Given the description of an element on the screen output the (x, y) to click on. 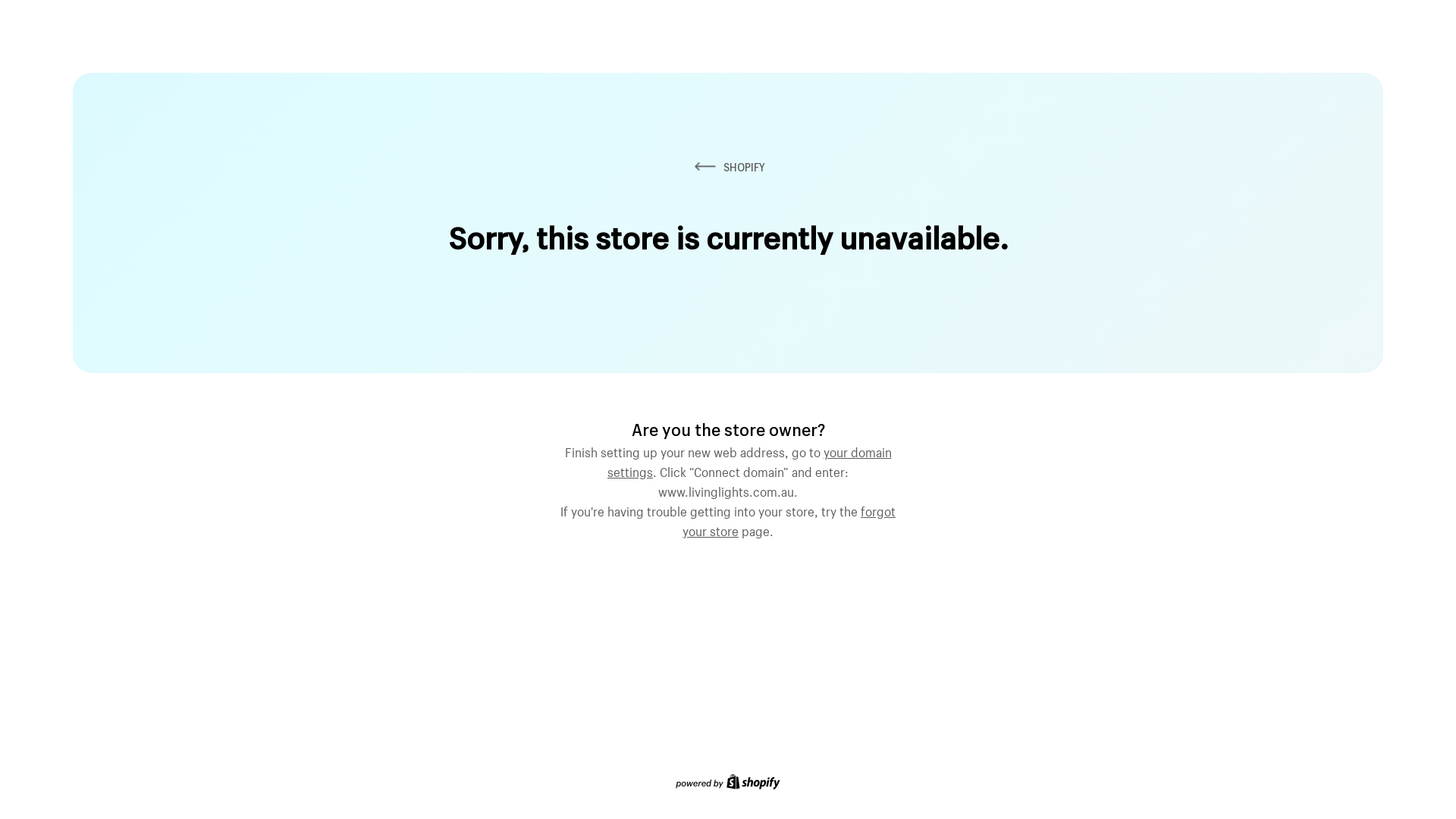
forgot your store Element type: text (788, 519)
your domain settings Element type: text (749, 460)
SHOPIFY Element type: text (727, 167)
